Given the description of an element on the screen output the (x, y) to click on. 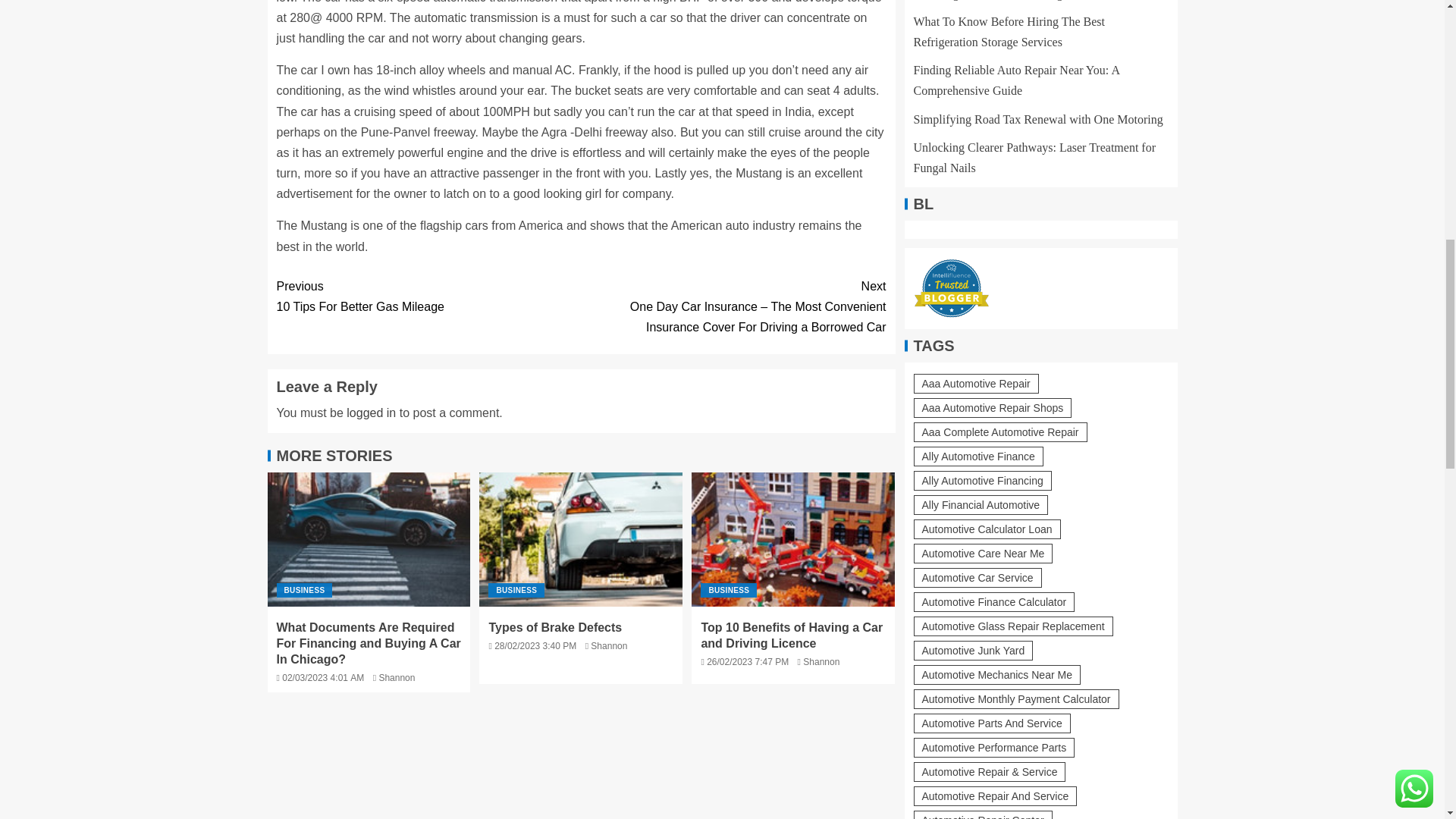
Shannon (821, 661)
BUSINESS (515, 590)
BUSINESS (303, 590)
Shannon (396, 677)
Types of Brake Defects (580, 539)
Top 10 Benefits of Having a Car and Driving Licence (793, 539)
BUSINESS (728, 590)
logged in (371, 412)
Top 10 Benefits of Having a Car and Driving Licence (791, 635)
Types of Brake Defects (428, 296)
Shannon (554, 626)
